Given the description of an element on the screen output the (x, y) to click on. 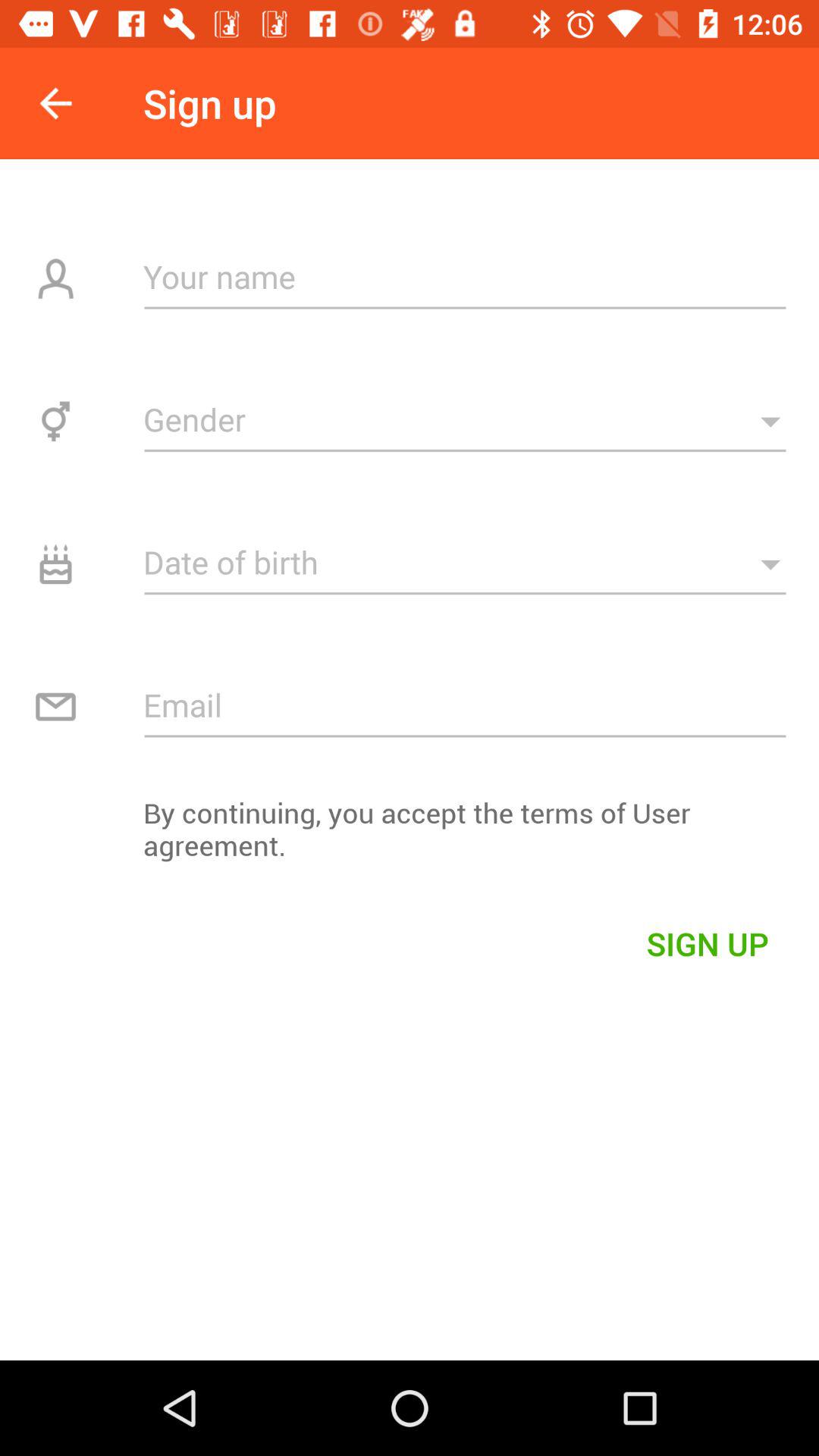
type text (465, 276)
